Given the description of an element on the screen output the (x, y) to click on. 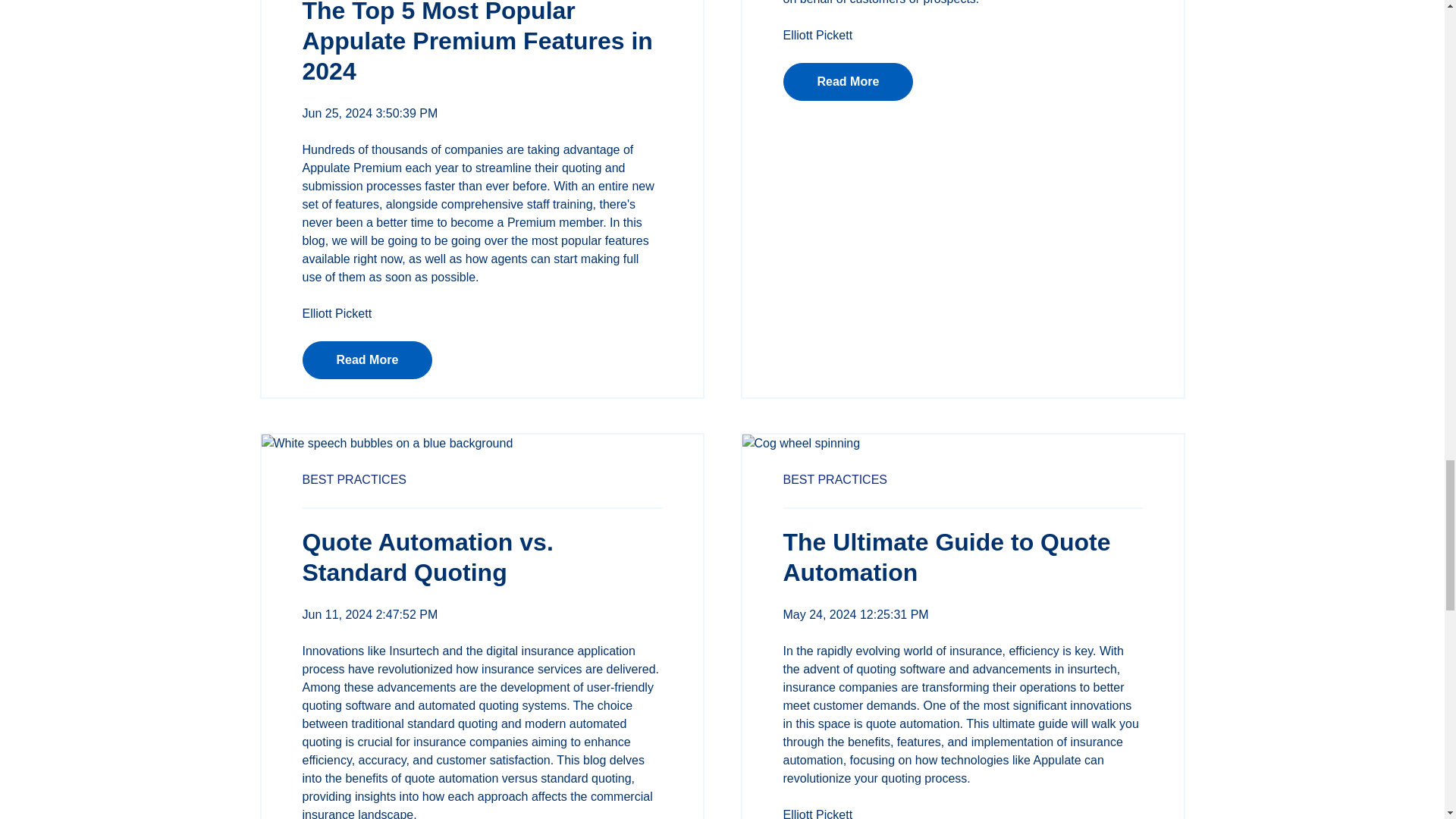
Elliott Pickett (817, 34)
The Top 5 Most Popular Appulate Premium Features in 2024 (476, 42)
Elliott Pickett (817, 813)
Read More (366, 360)
Read More (847, 81)
BEST PRACTICES (353, 479)
Elliott Pickett (336, 313)
BEST PRACTICES (834, 479)
The Ultimate Guide to Quote Automation (946, 557)
Quote Automation vs. Standard Quoting (427, 557)
